Given the description of an element on the screen output the (x, y) to click on. 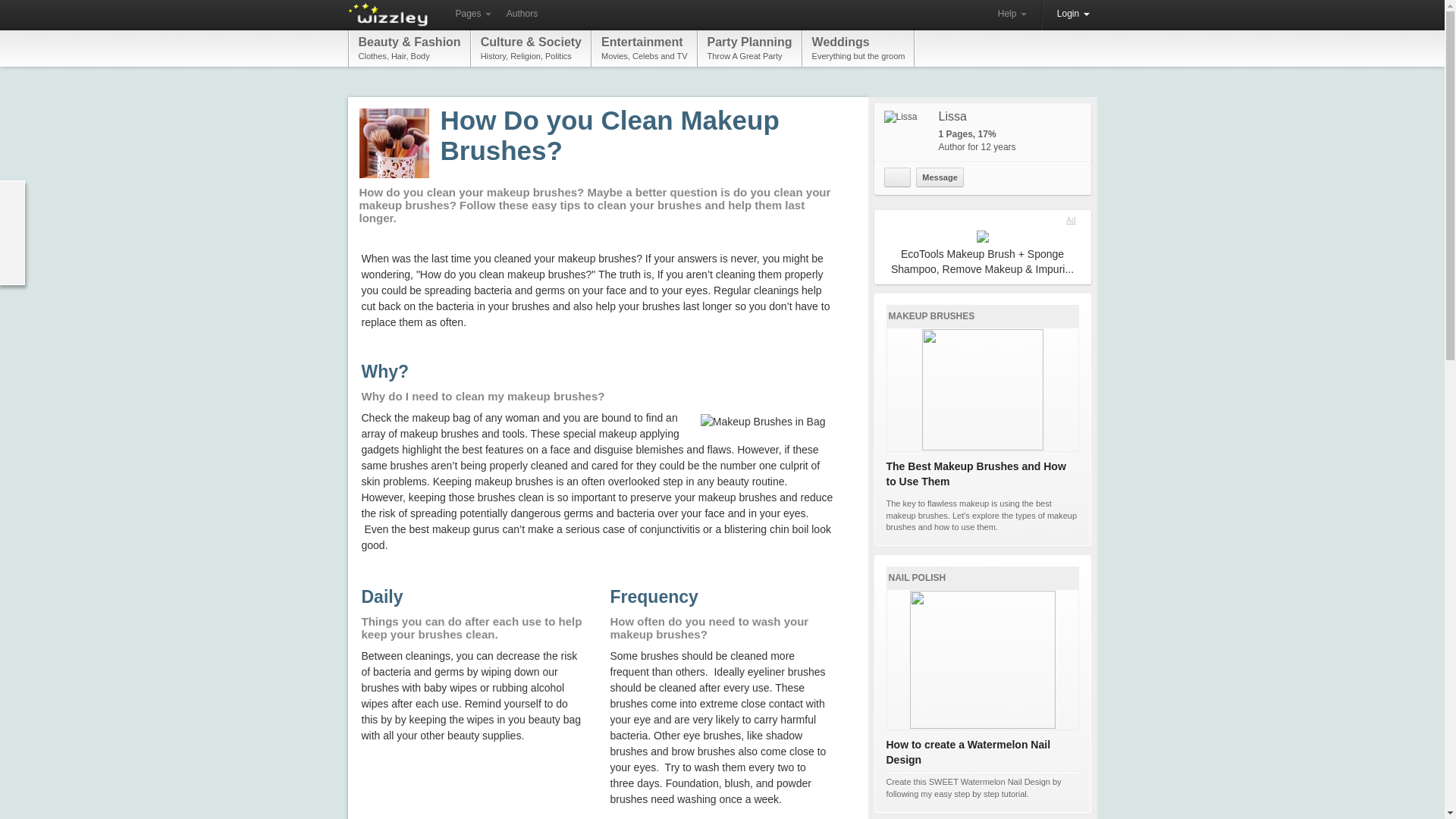
Message (938, 177)
Makeup Brushes in Bag (762, 421)
Pages (471, 14)
Authors (749, 48)
Follow (521, 14)
Help (858, 48)
Login (897, 177)
Ad (1011, 14)
